Given the description of an element on the screen output the (x, y) to click on. 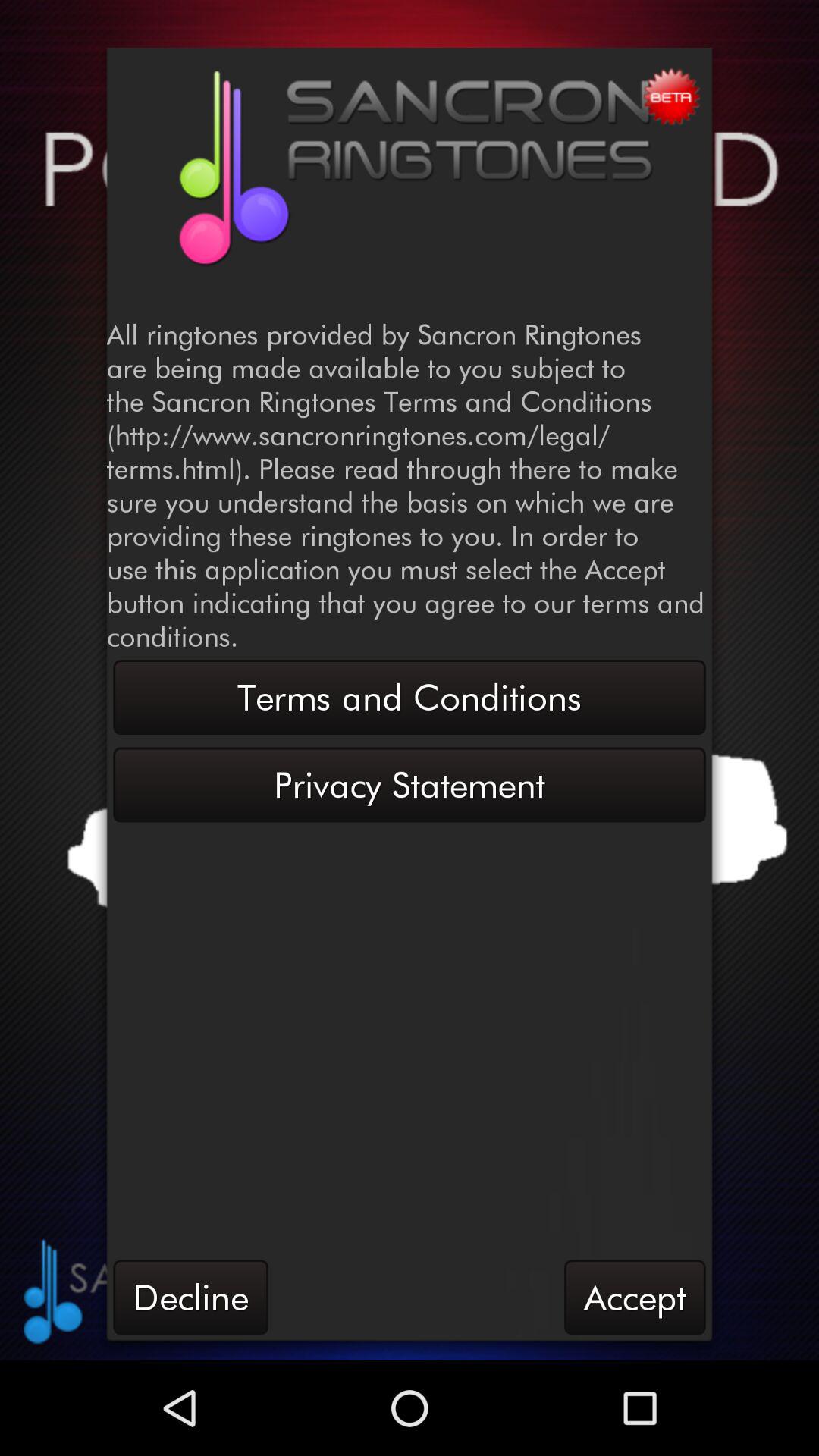
launch button below terms and conditions icon (409, 784)
